Given the description of an element on the screen output the (x, y) to click on. 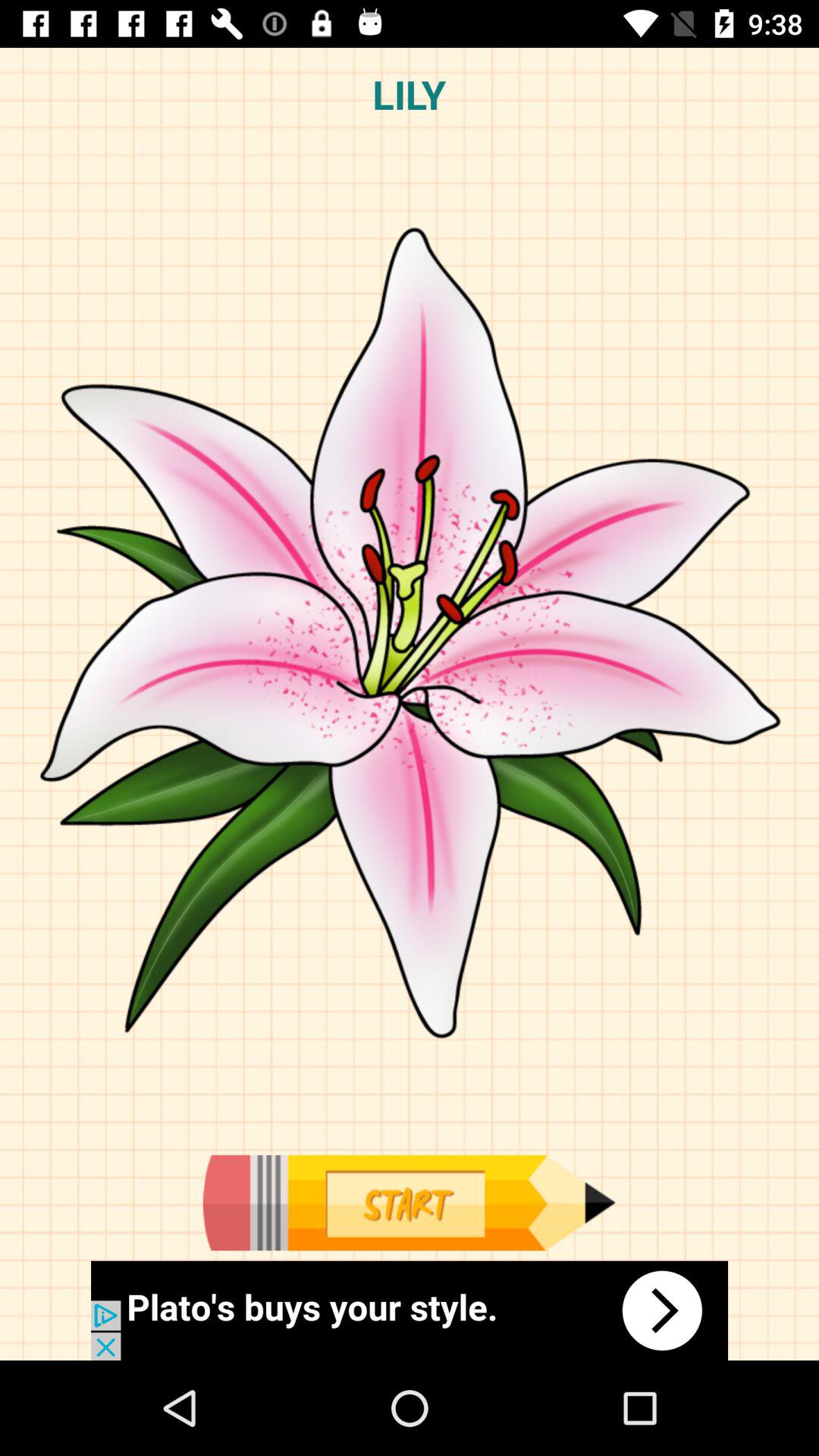
start drawing (409, 1202)
